Given the description of an element on the screen output the (x, y) to click on. 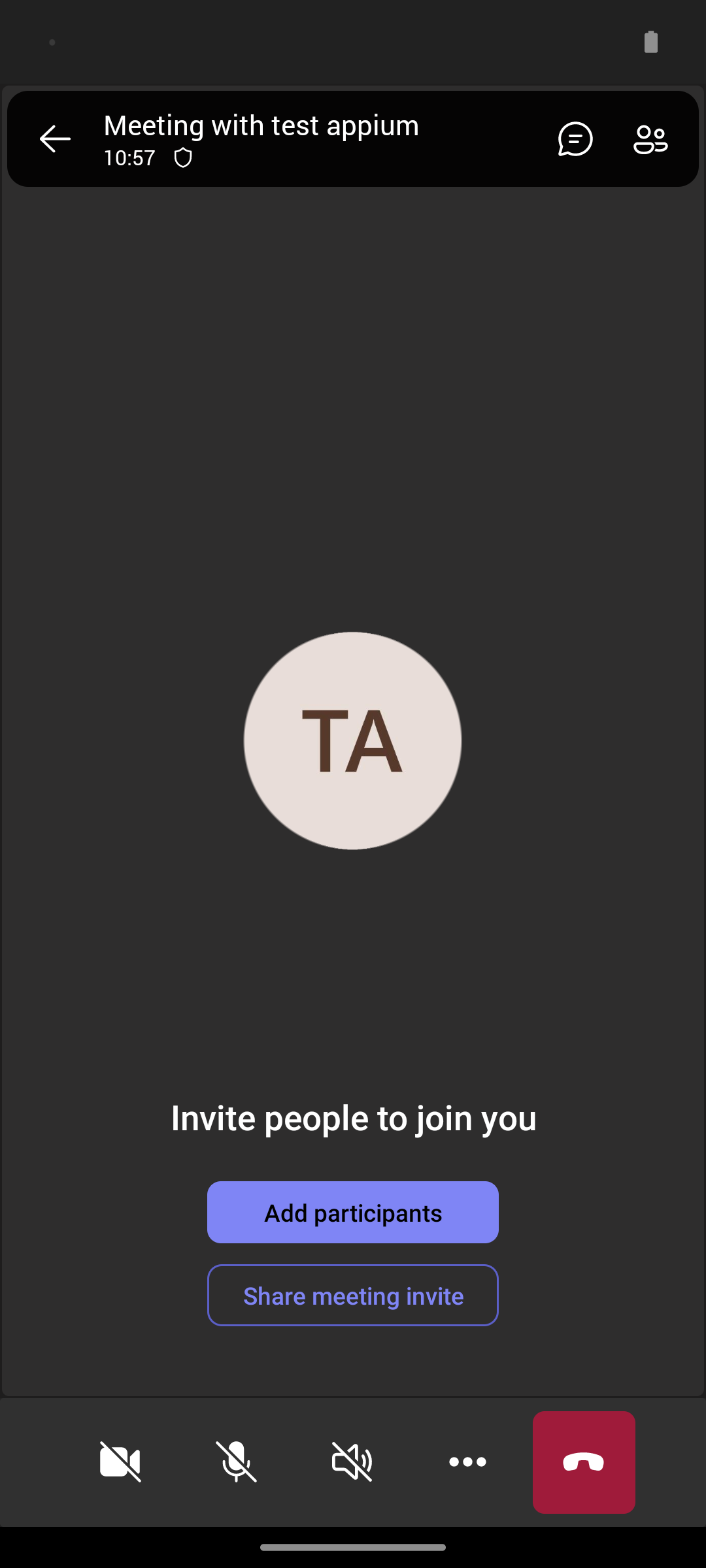
Back (55, 138)
Chat (570, 138)
Show participants (655, 138)
Add participants (352, 1211)
Share meeting invite (352, 1294)
Turn on camera (120, 1462)
Unmute (236, 1462)
Audio (352, 1462)
More options (468, 1462)
Hang up (584, 1462)
